Given the description of an element on the screen output the (x, y) to click on. 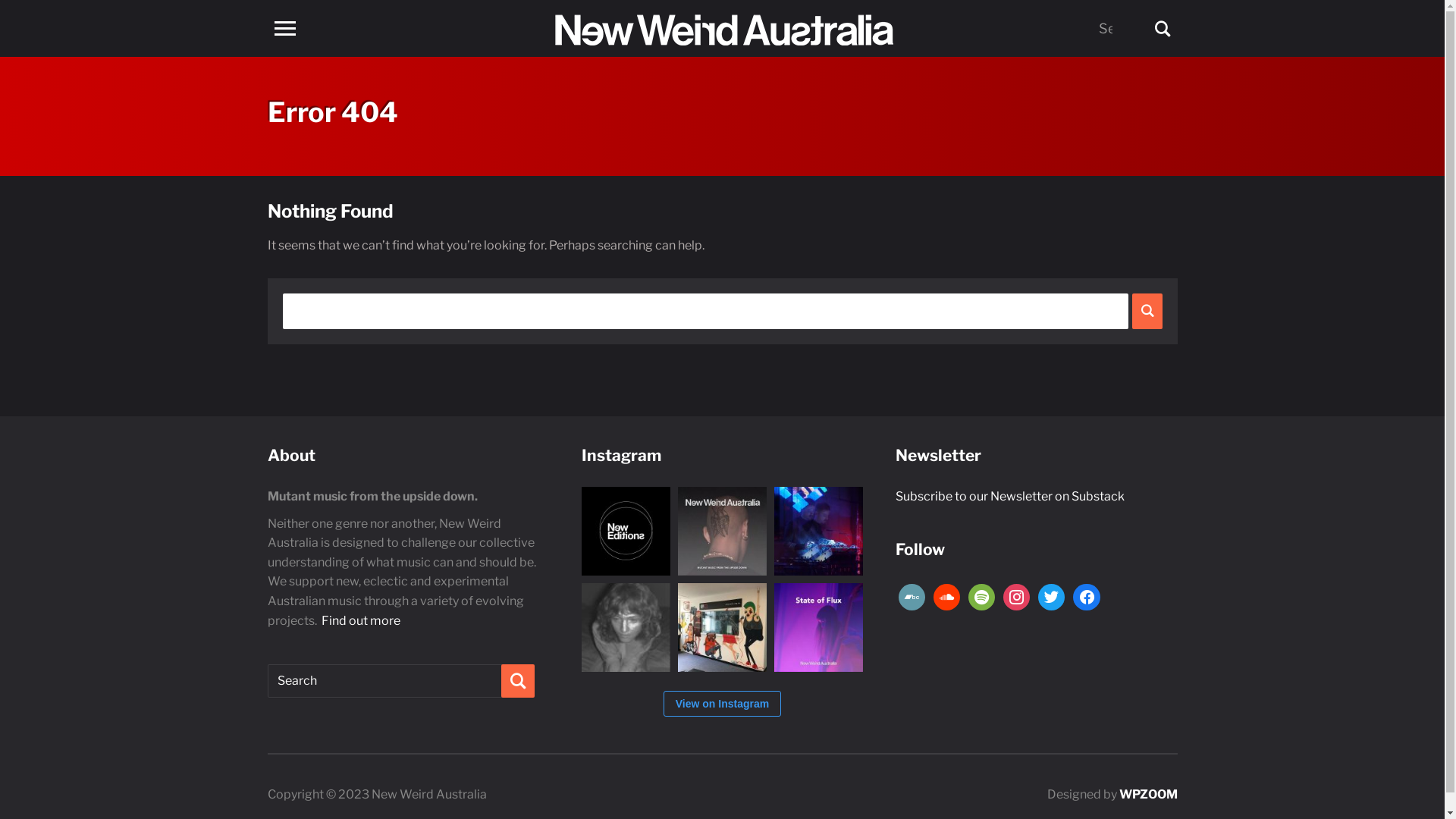
Subscribe to our Newsletter on Substack Element type: text (1008, 496)
Toggle sidebar & navigation Element type: text (283, 28)
WPZOOM Element type: text (1148, 794)
Find out more Element type: text (360, 620)
spotify Element type: text (981, 596)
View on Instagram Element type: text (722, 703)
twitter Element type: text (1051, 596)
facebook Element type: text (1086, 596)
instagram Element type: text (1016, 596)
soundcloud Element type: text (946, 596)
bandcamp Element type: text (910, 596)
